Given the description of an element on the screen output the (x, y) to click on. 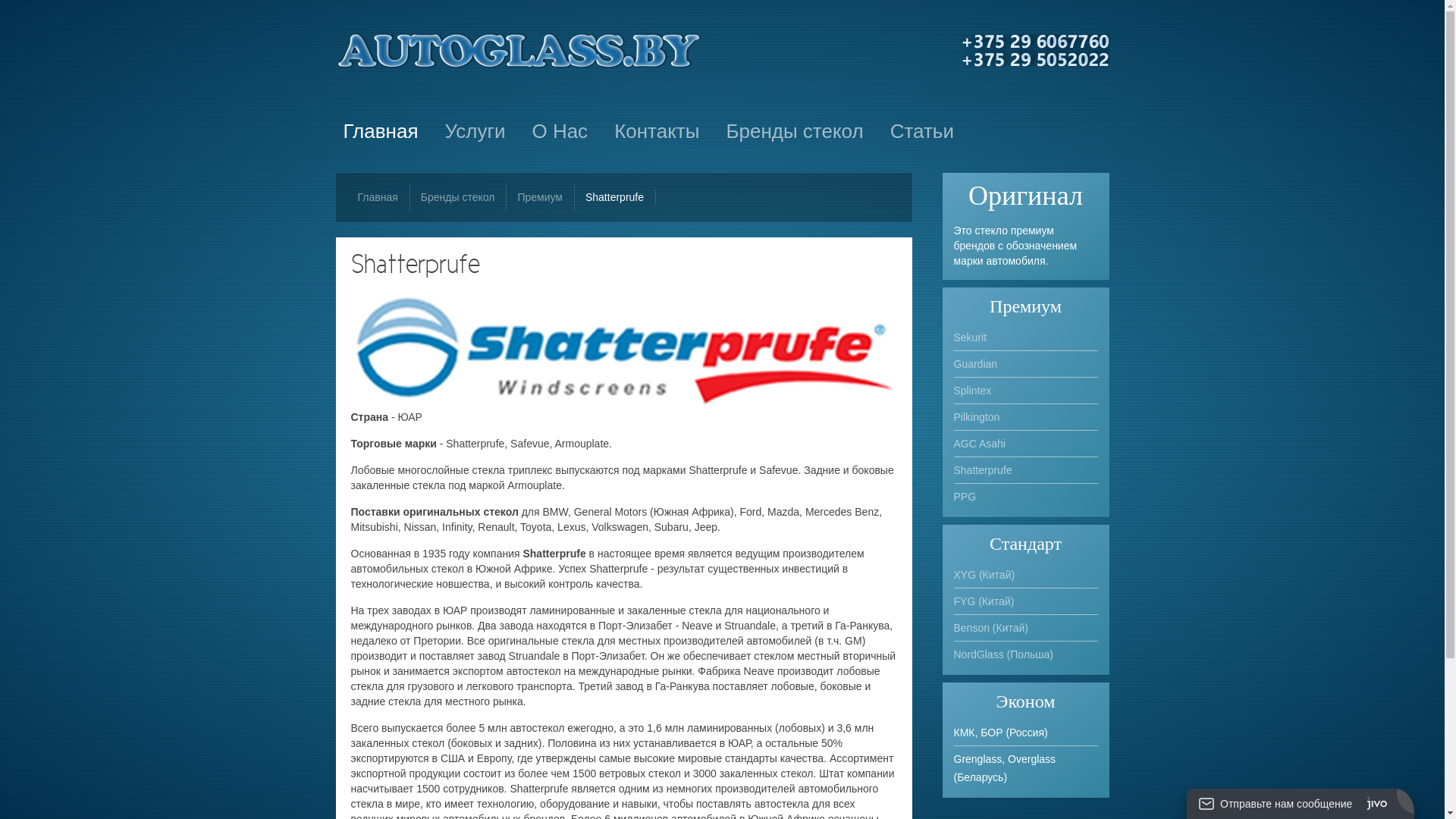
Splintex Element type: text (1025, 390)
Guardian Element type: text (1025, 363)
AGC Asahi Element type: text (1025, 443)
Sekurit Element type: text (1025, 337)
Pilkington Element type: text (1025, 416)
PPG Element type: text (1025, 496)
Shatterprufe Element type: text (1025, 470)
